Given the description of an element on the screen output the (x, y) to click on. 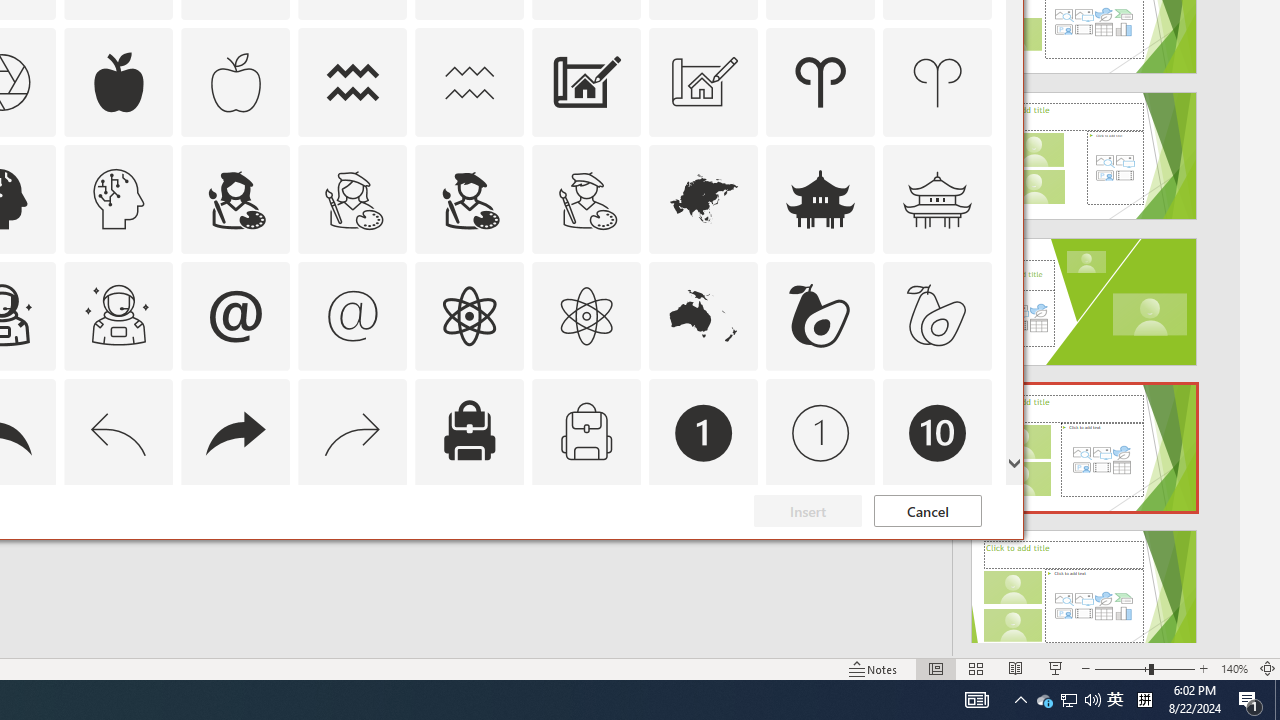
AutomationID: Icons_Badge8 (586, 550)
AutomationID: Icons_Badge1 (703, 432)
AutomationID: Icons_Aquarius_M (469, 82)
Thumbnail (977, 511)
AutomationID: Icons_ArtistMale_M (586, 198)
AutomationID: Icons_Architecture_M (703, 82)
